Given the description of an element on the screen output the (x, y) to click on. 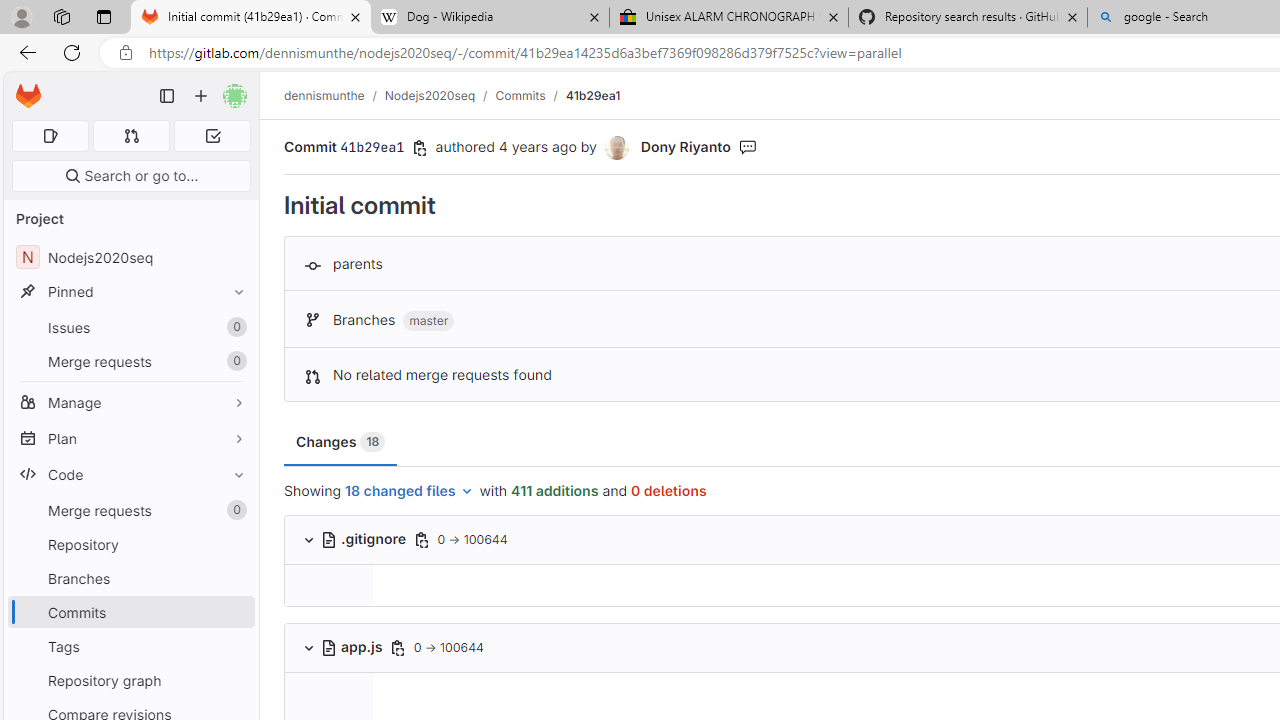
41b29ea1 (592, 95)
app.js  (353, 646)
Dony Riyanto's avatar (618, 148)
Homepage (27, 96)
Manage (130, 402)
Pinned (130, 291)
Dony Riyanto (685, 146)
dennismunthe (324, 95)
Unpin Merge requests (234, 510)
Unpin Issues (234, 327)
To-Do list 0 (212, 136)
